Given the description of an element on the screen output the (x, y) to click on. 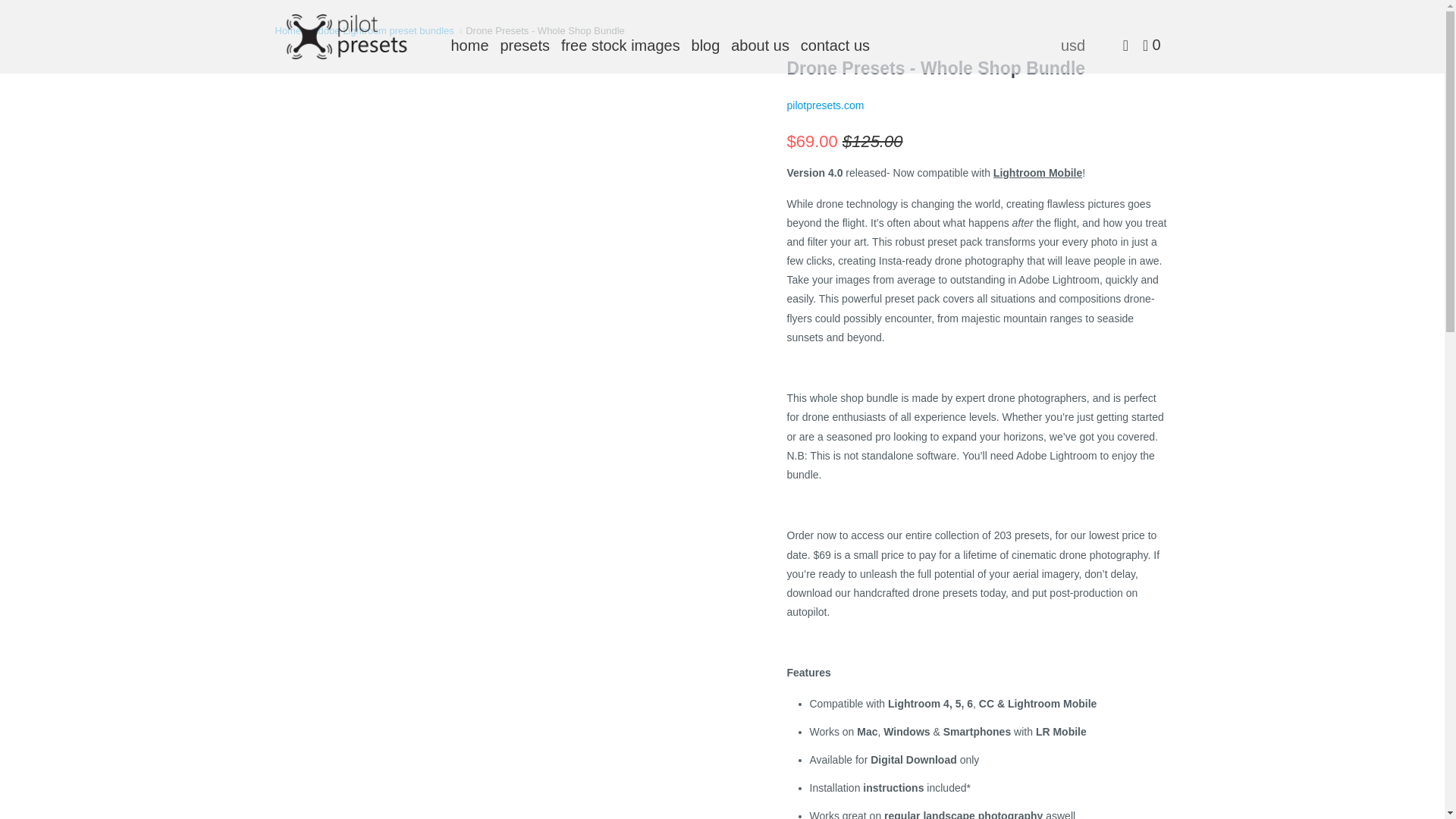
Home (288, 30)
contact us (834, 45)
free stock images (619, 45)
Drone Lightroom Presets - Pilot Presets (352, 36)
home (469, 45)
pilotpresets.com (825, 105)
Drone Lightroom Presets - Pilot Presets (288, 30)
blog (705, 45)
presets (524, 45)
about us (760, 45)
